Given the description of an element on the screen output the (x, y) to click on. 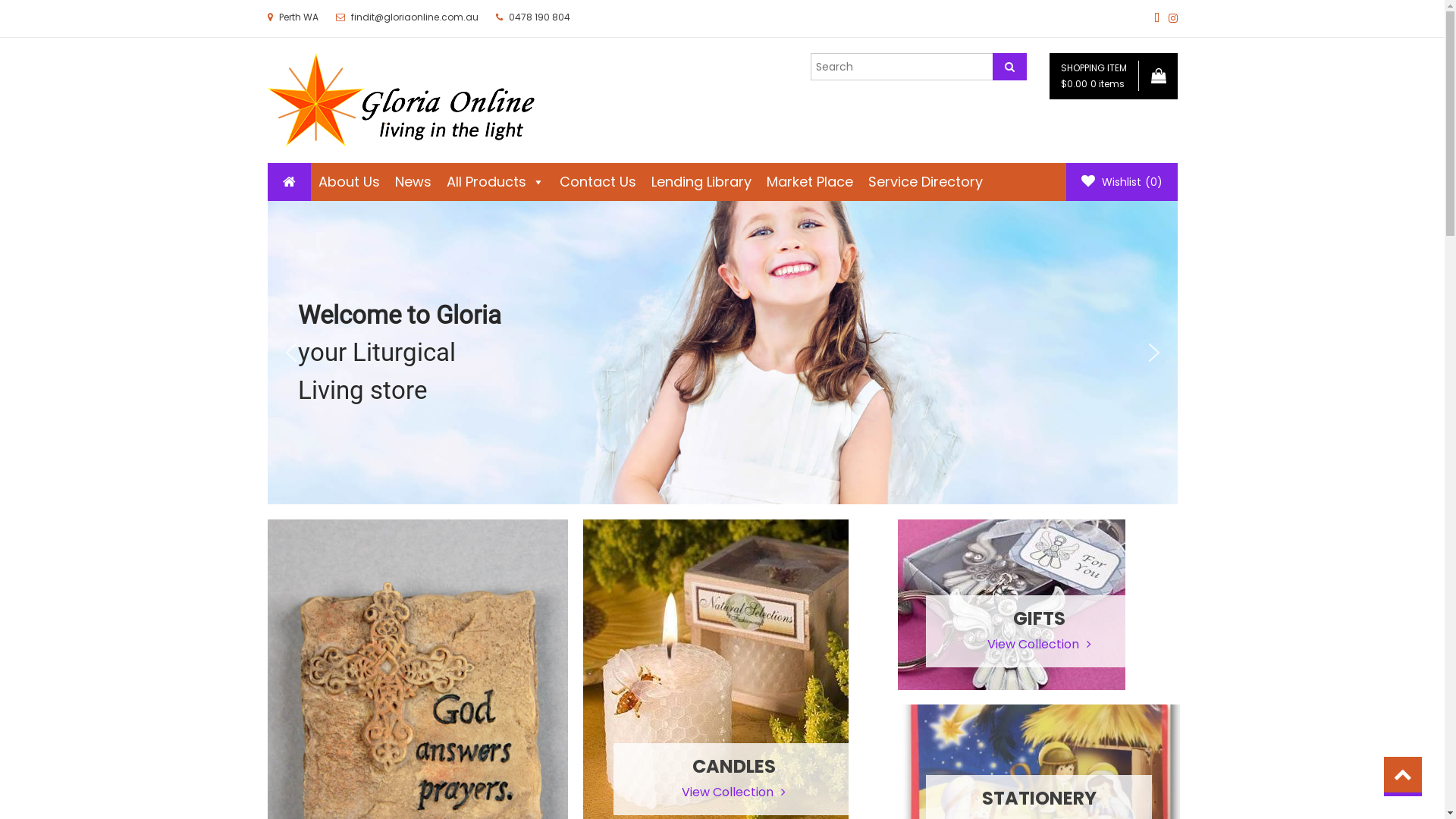
About Us Element type: text (348, 181)
View Collection Element type: text (1038, 644)
Gloria Online Element type: text (300, 156)
All Products Element type: text (494, 181)
Lending Library Element type: text (700, 181)
Wishlist(0) Element type: text (1121, 181)
Search Element type: text (1008, 66)
Market Place Element type: text (808, 181)
SHOPPING ITEM
$0.00 0 items Element type: text (1113, 76)
News Element type: text (412, 181)
Service Directory Element type: text (924, 181)
View Collection Element type: text (733, 792)
Contact Us Element type: text (597, 181)
